Given the description of an element on the screen output the (x, y) to click on. 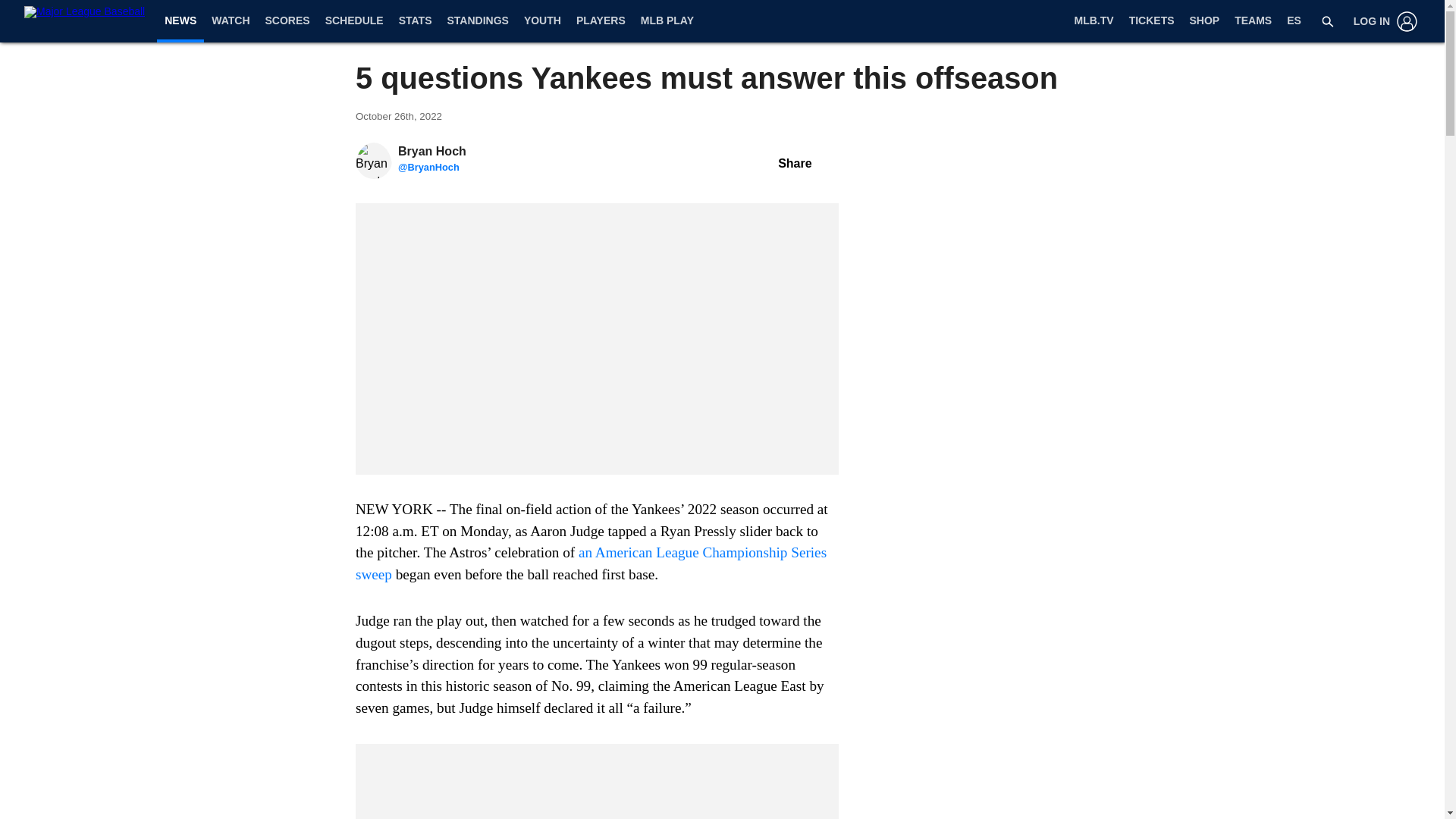
STATS (415, 21)
SCHEDULE (354, 21)
NEWS (180, 19)
SCORES (287, 21)
STANDINGS (477, 21)
search-152522 (1327, 21)
WATCH (230, 21)
